Given the description of an element on the screen output the (x, y) to click on. 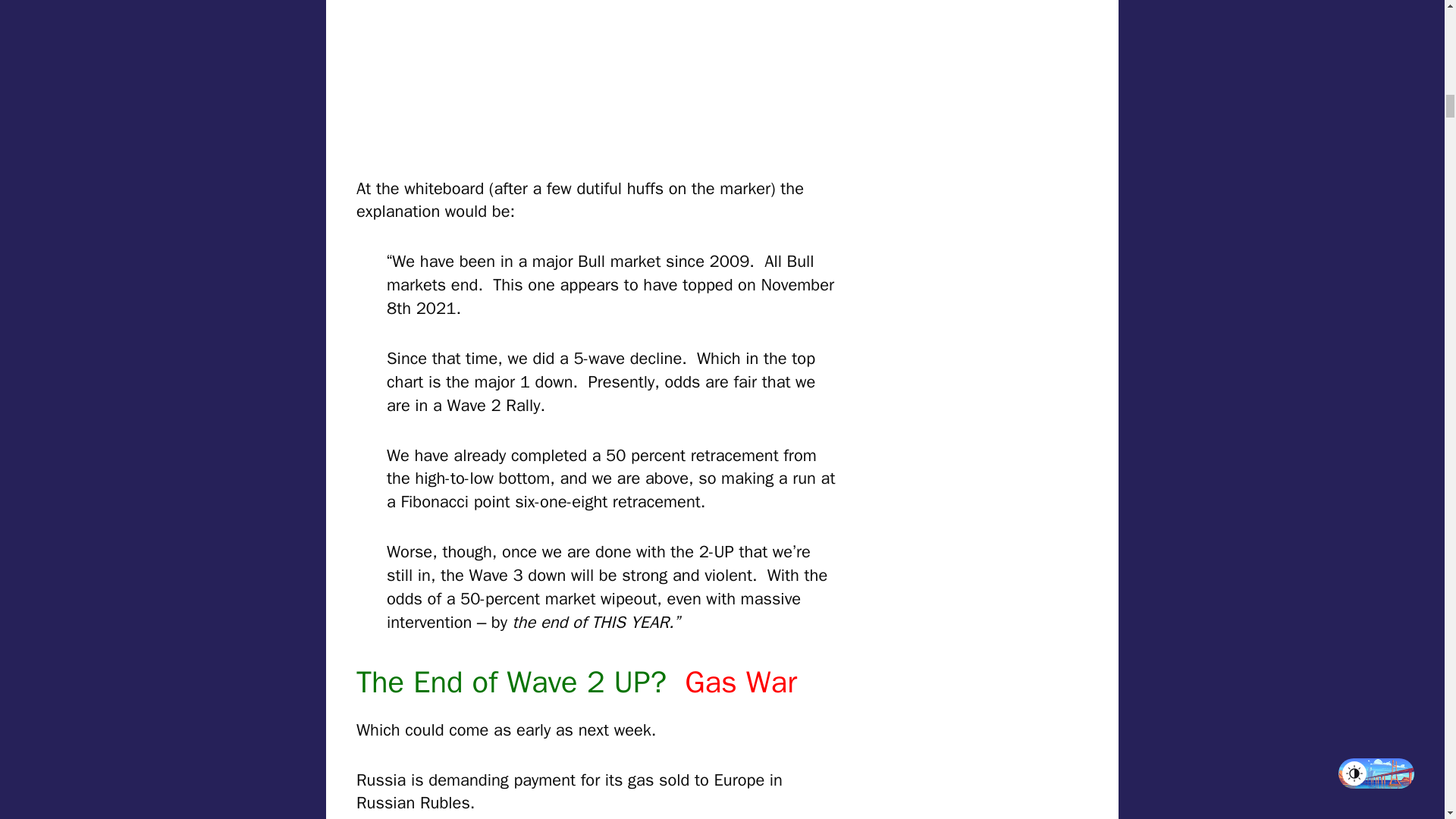
202203292 - UrbanSurvival - 190.92.156.129 (526, 72)
